Given the description of an element on the screen output the (x, y) to click on. 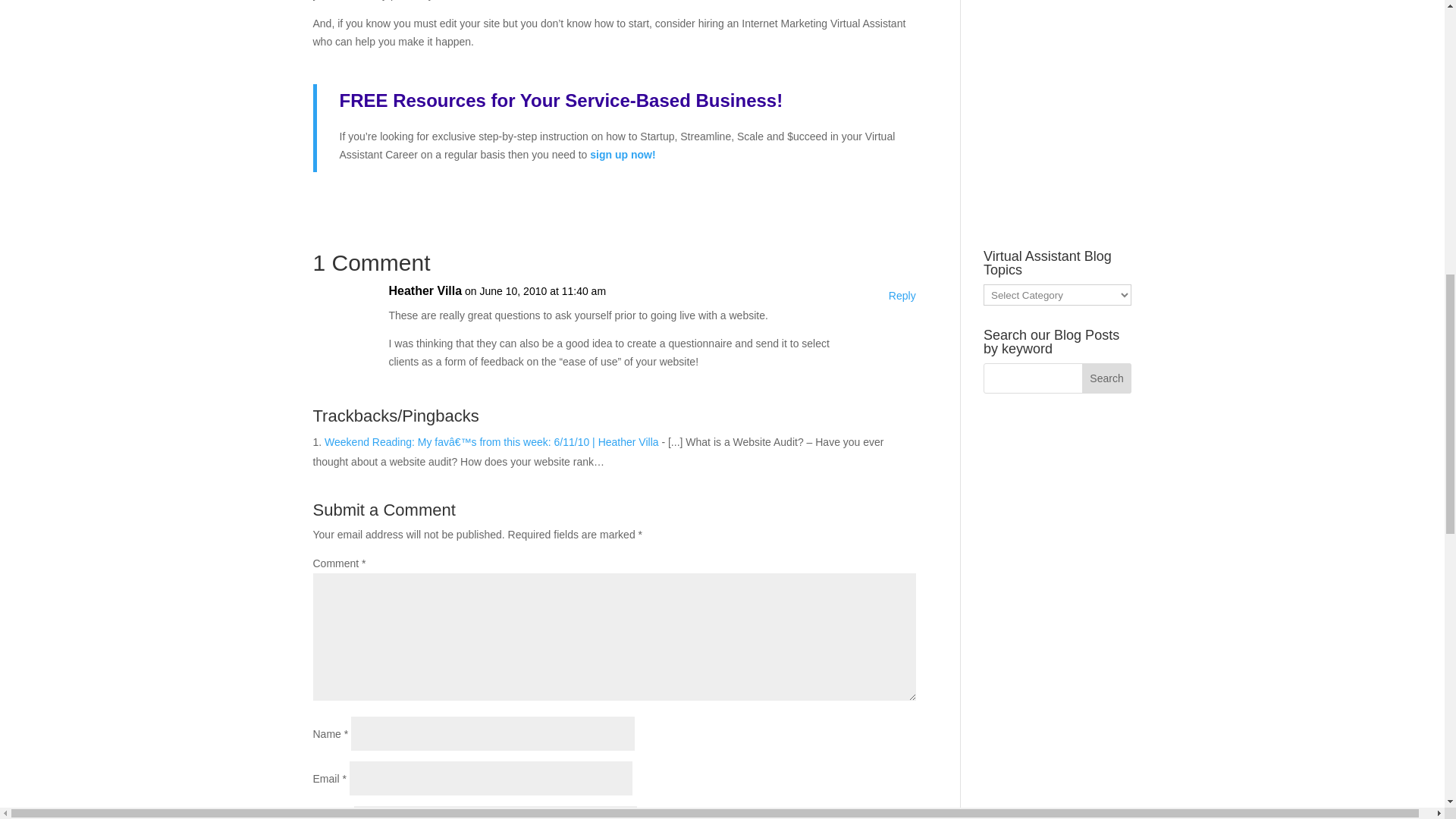
Reply (901, 296)
Search (1106, 378)
Heather Villa (424, 290)
Search (1106, 378)
sign up now! (622, 154)
